Given the description of an element on the screen output the (x, y) to click on. 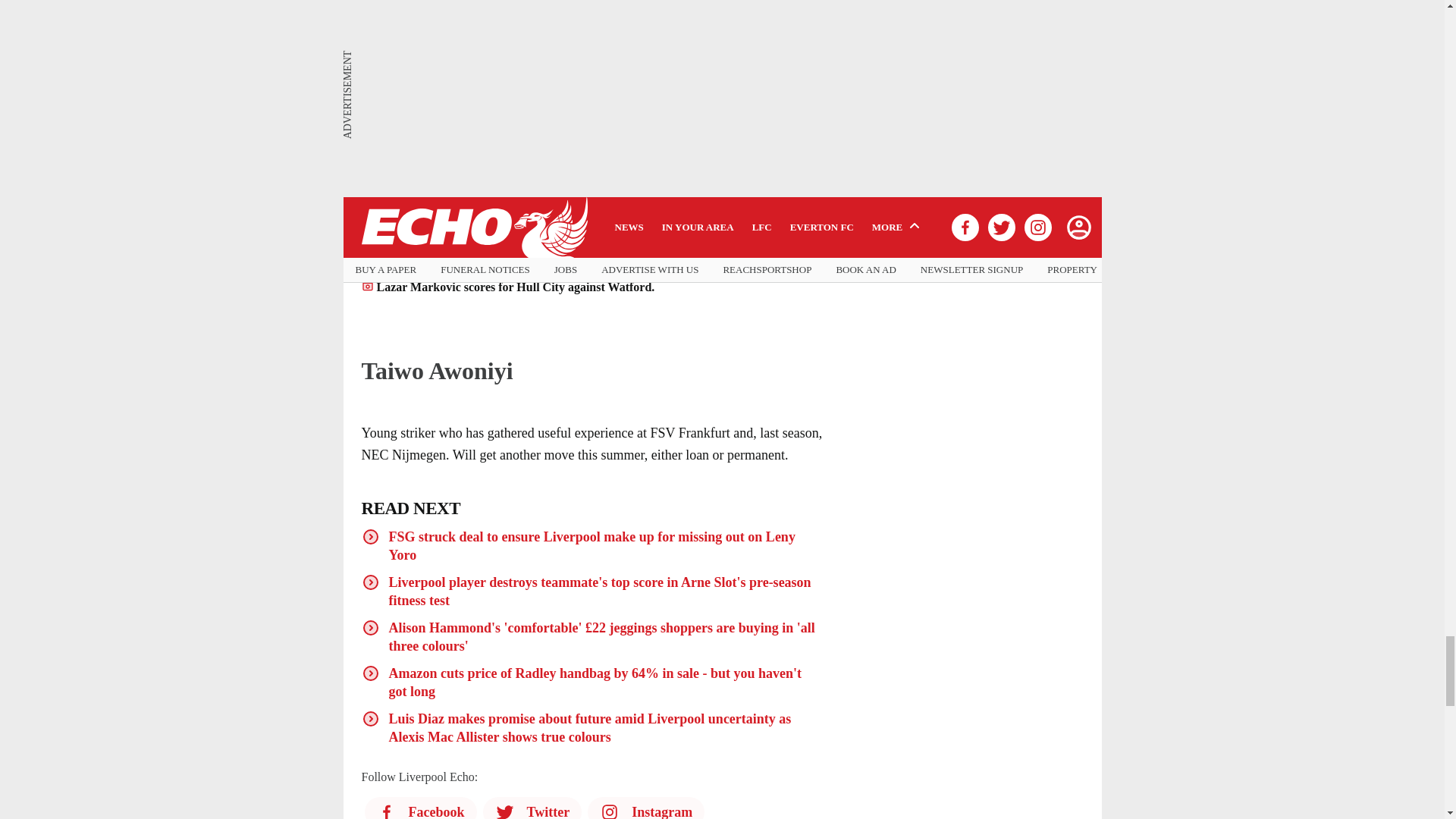
Read Next Article Icon (369, 628)
Read Next Article Icon (369, 582)
Read Next Article Icon (369, 536)
Read Next Article Icon (369, 673)
